Given the description of an element on the screen output the (x, y) to click on. 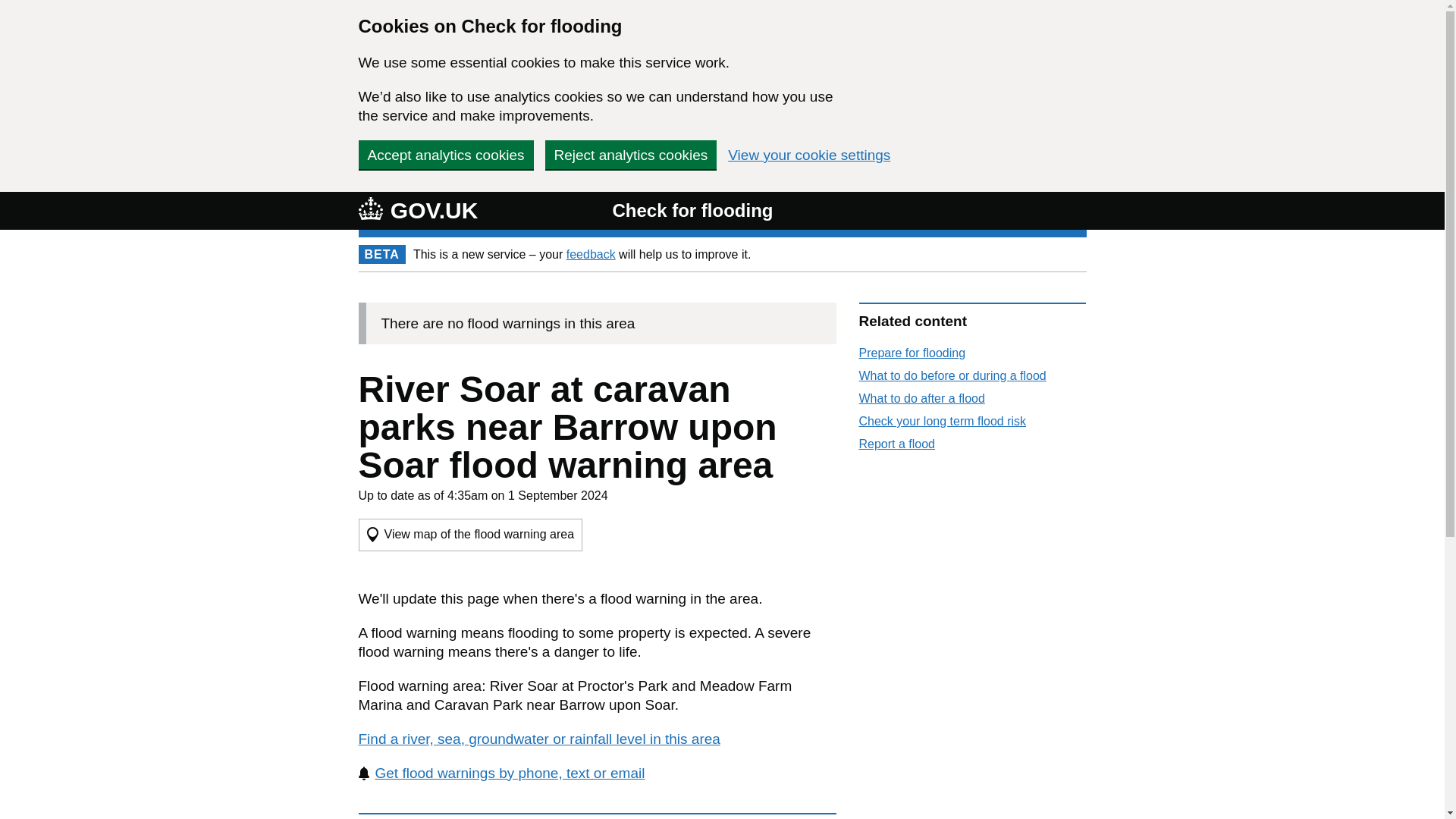
Skip to main content (11, 7)
Reject analytics cookies (630, 154)
What to do after a flood (921, 398)
Get flood warnings by phone, text or email (501, 772)
Check for flooding (692, 210)
Report a flood (896, 443)
Accept analytics cookies (445, 154)
Check your long term flood risk (942, 420)
GOV.UK (417, 210)
